Given the description of an element on the screen output the (x, y) to click on. 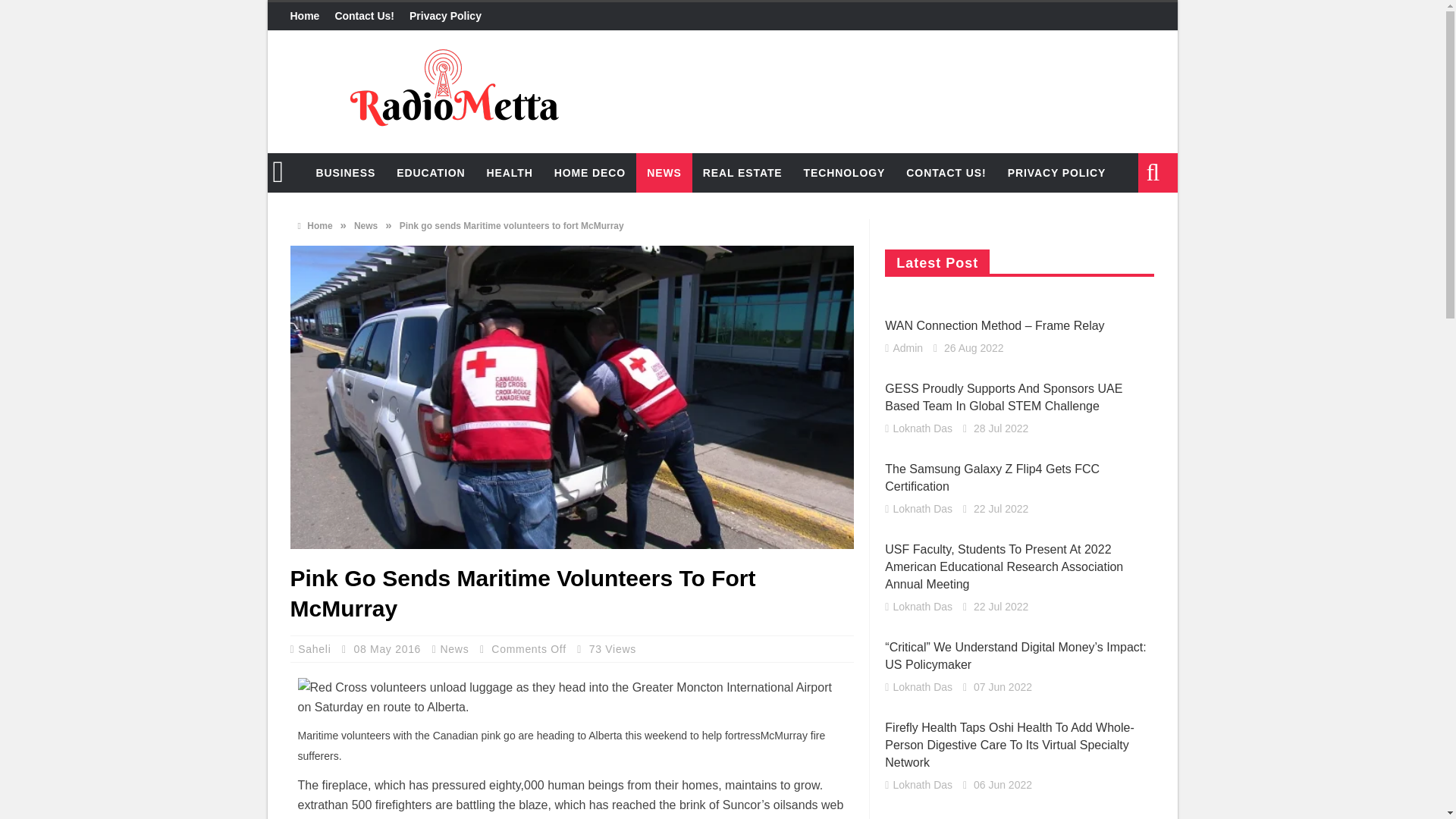
BUSINESS (344, 172)
Home (307, 16)
PRIVACY POLICY (1056, 172)
TECHNOLOGY (844, 172)
Privacy Policy (445, 16)
News (365, 225)
CONTACT US! (945, 172)
HEALTH (509, 172)
HOME (285, 172)
Contact Us! (363, 16)
EDUCATION (430, 172)
HOME DECO (589, 172)
Home (314, 225)
REAL ESTATE (743, 172)
Saheli (316, 648)
